Given the description of an element on the screen output the (x, y) to click on. 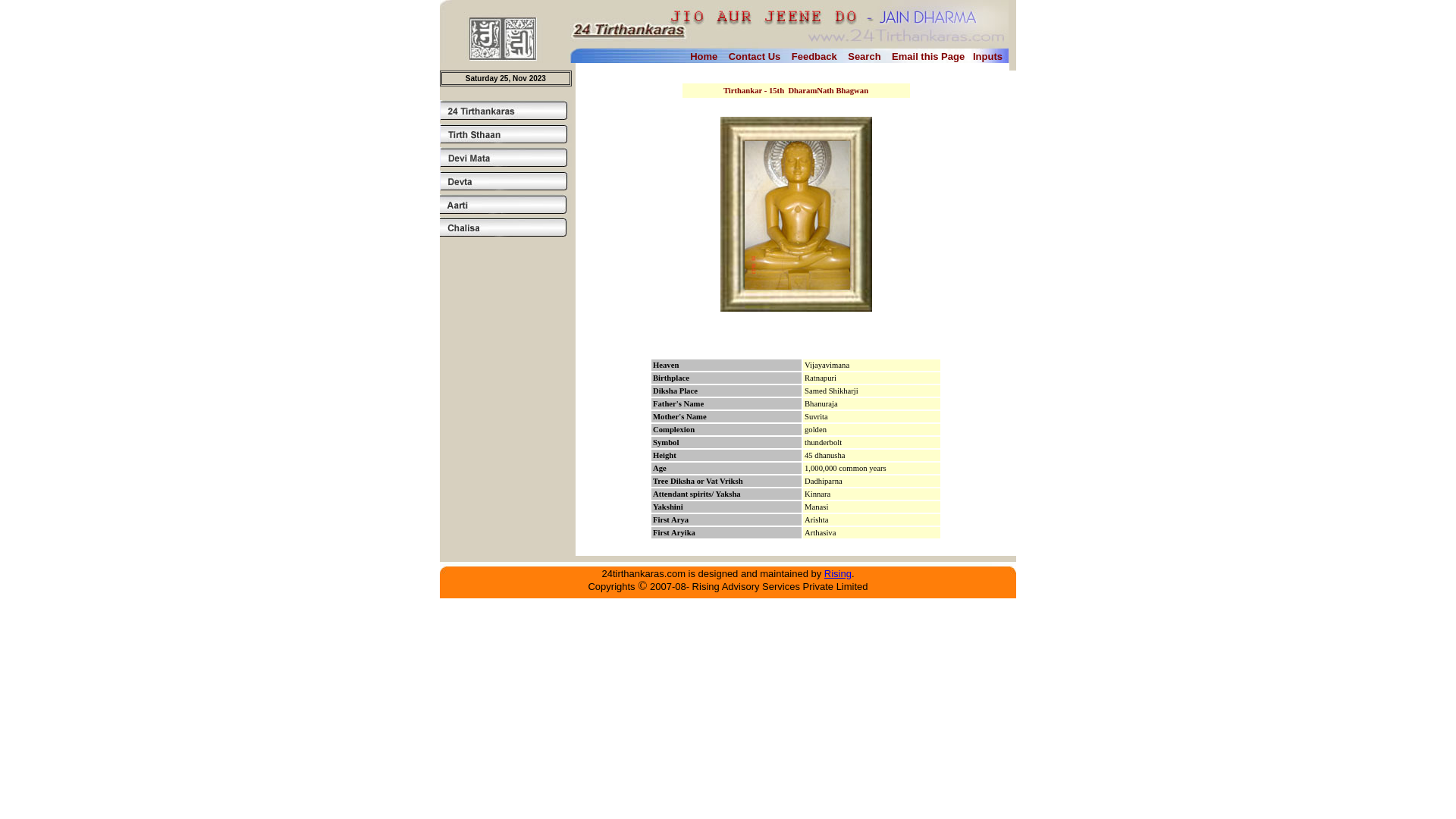
Inputs Element type: text (987, 55)
Contact Us Element type: text (754, 55)
Home Element type: text (703, 55)
Rising Element type: text (837, 572)
Feedback Element type: text (814, 55)
Email this Page Element type: text (927, 55)
Search Element type: text (863, 55)
